Given the description of an element on the screen output the (x, y) to click on. 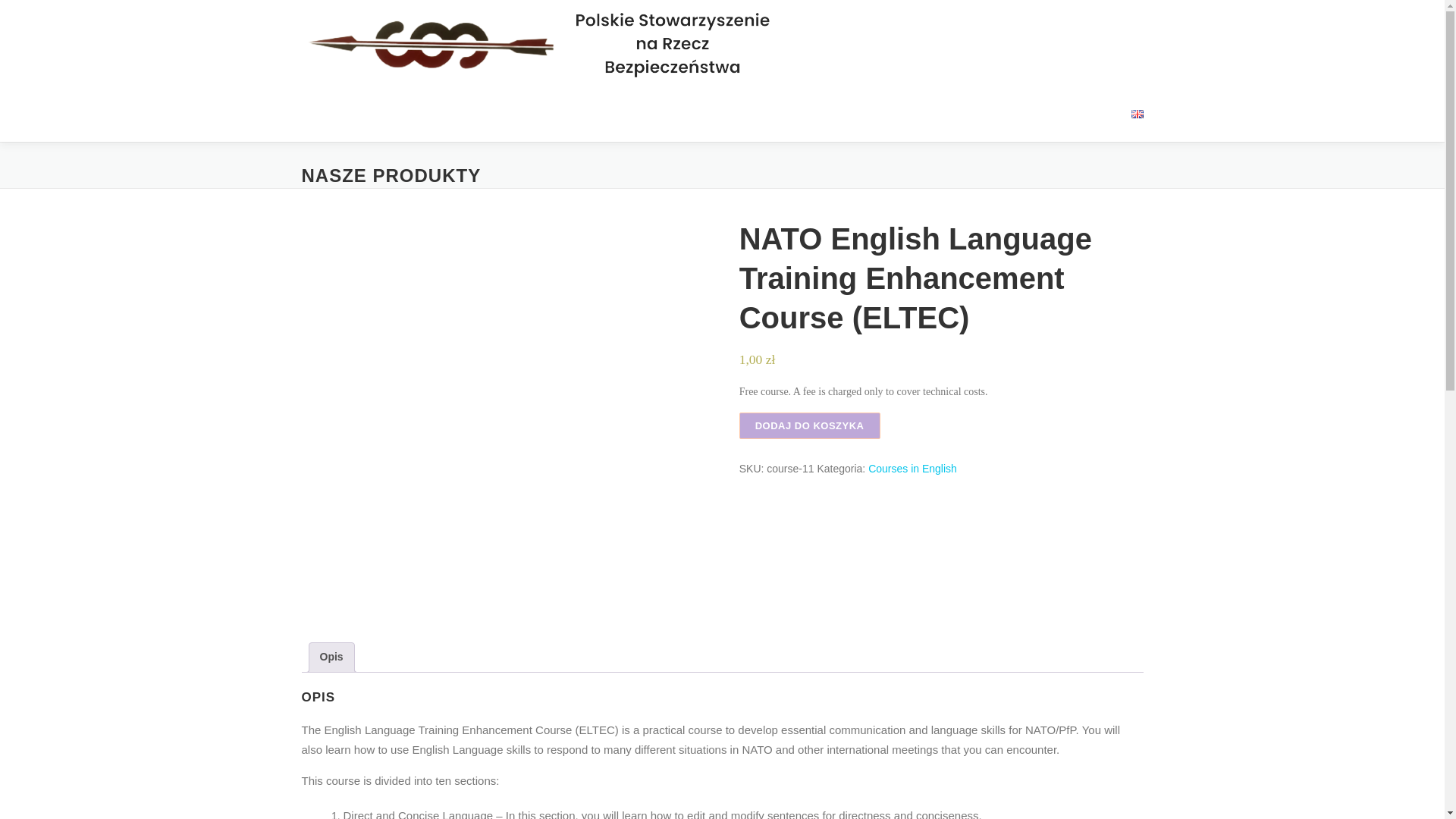
Courses in English (911, 468)
E-PLATFORMA (813, 113)
E-OFERTA (906, 113)
MOJE KONTO (1067, 113)
DODAJ DO KOSZYKA (809, 425)
KOSZYK (982, 113)
